Given the description of an element on the screen output the (x, y) to click on. 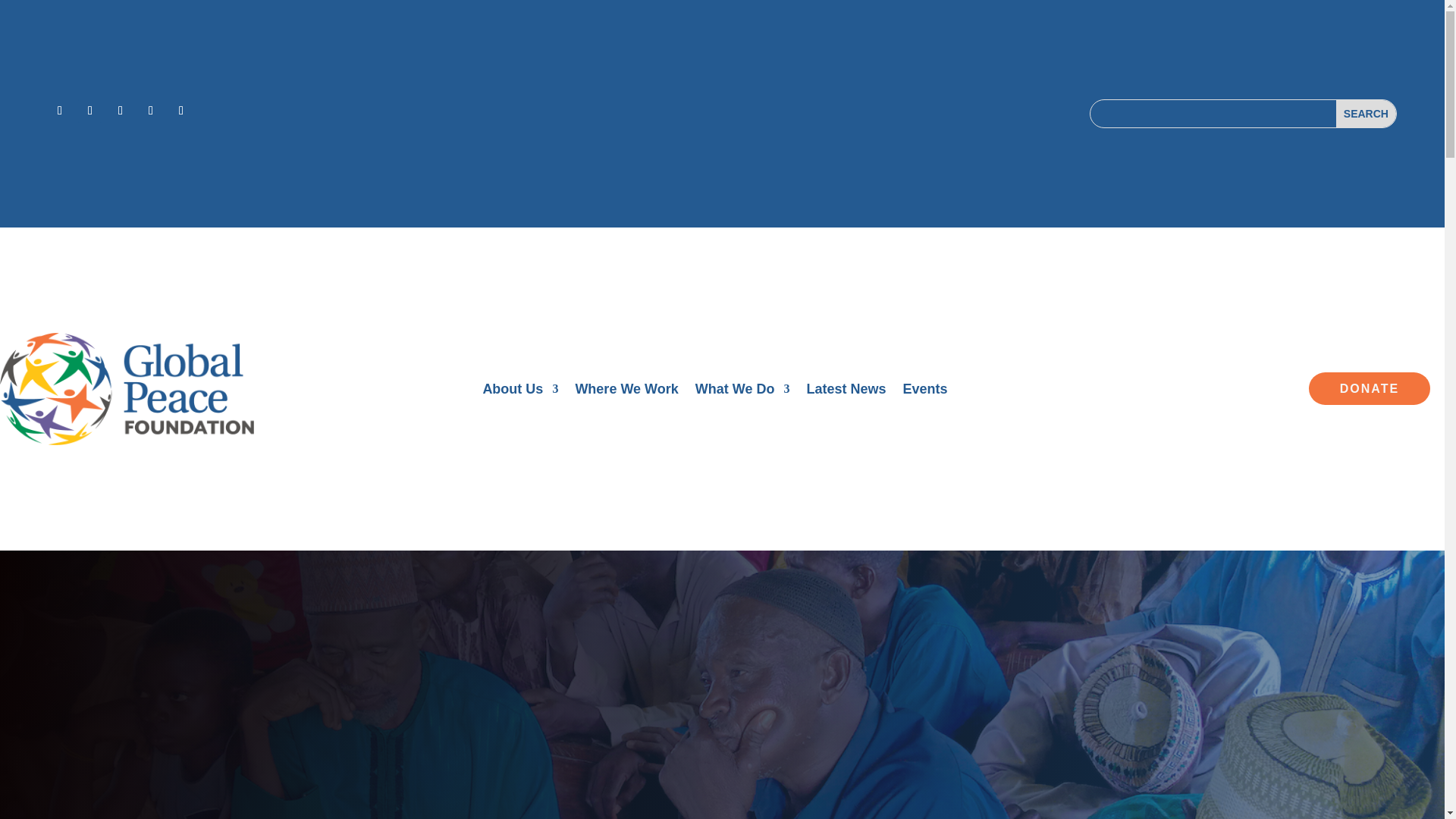
Where We Work (626, 392)
Search (1366, 113)
Follow on Facebook (59, 110)
Follow on Instagram (119, 110)
Search (1366, 113)
What We Do (742, 392)
About Us (519, 392)
DONATE (1368, 388)
Events (924, 392)
Latest News (845, 392)
